Given the description of an element on the screen output the (x, y) to click on. 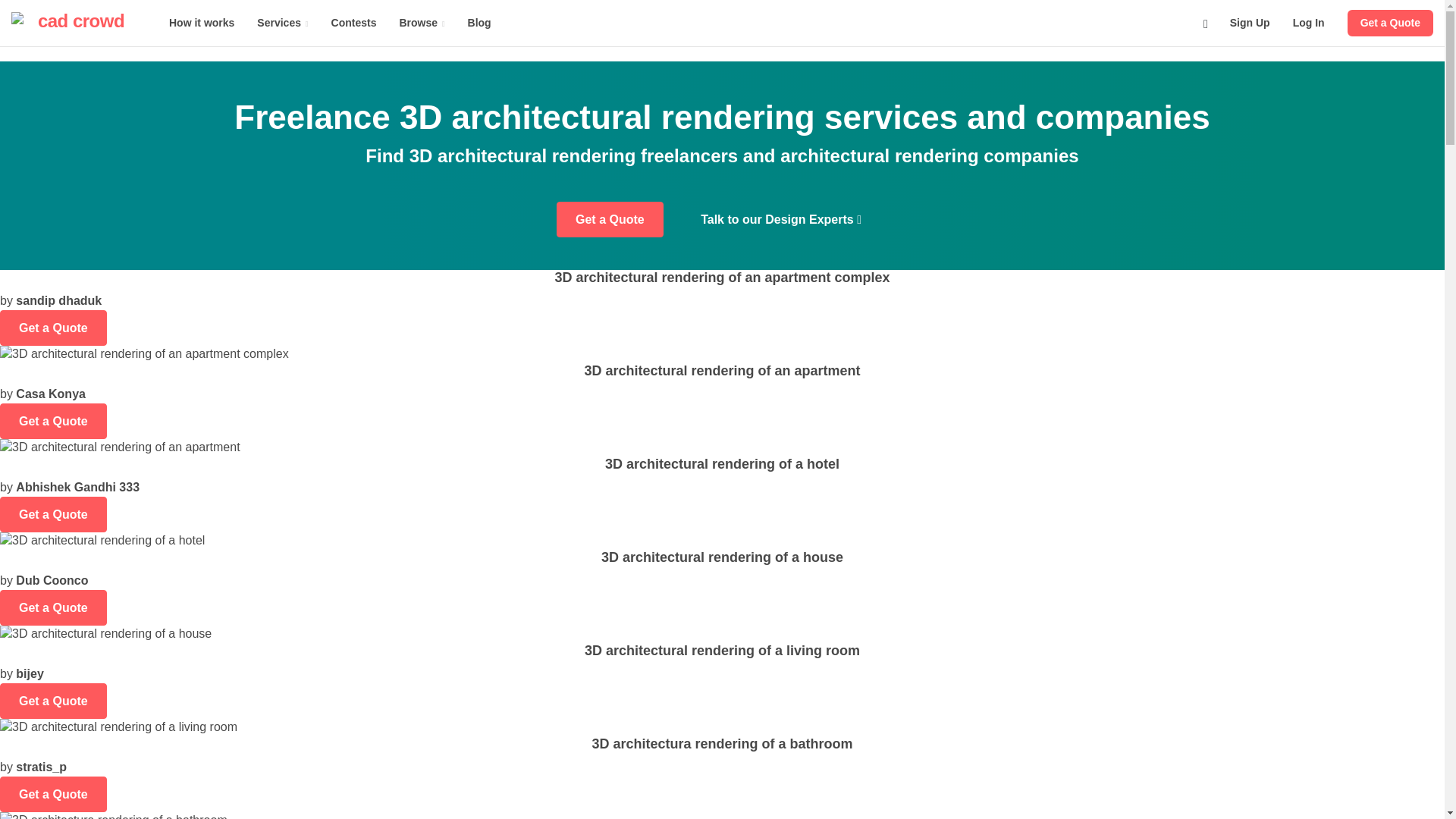
How it works (201, 22)
Contests (354, 22)
Services (282, 22)
Blog (479, 22)
Search (1205, 22)
Browse (421, 22)
